Given the description of an element on the screen output the (x, y) to click on. 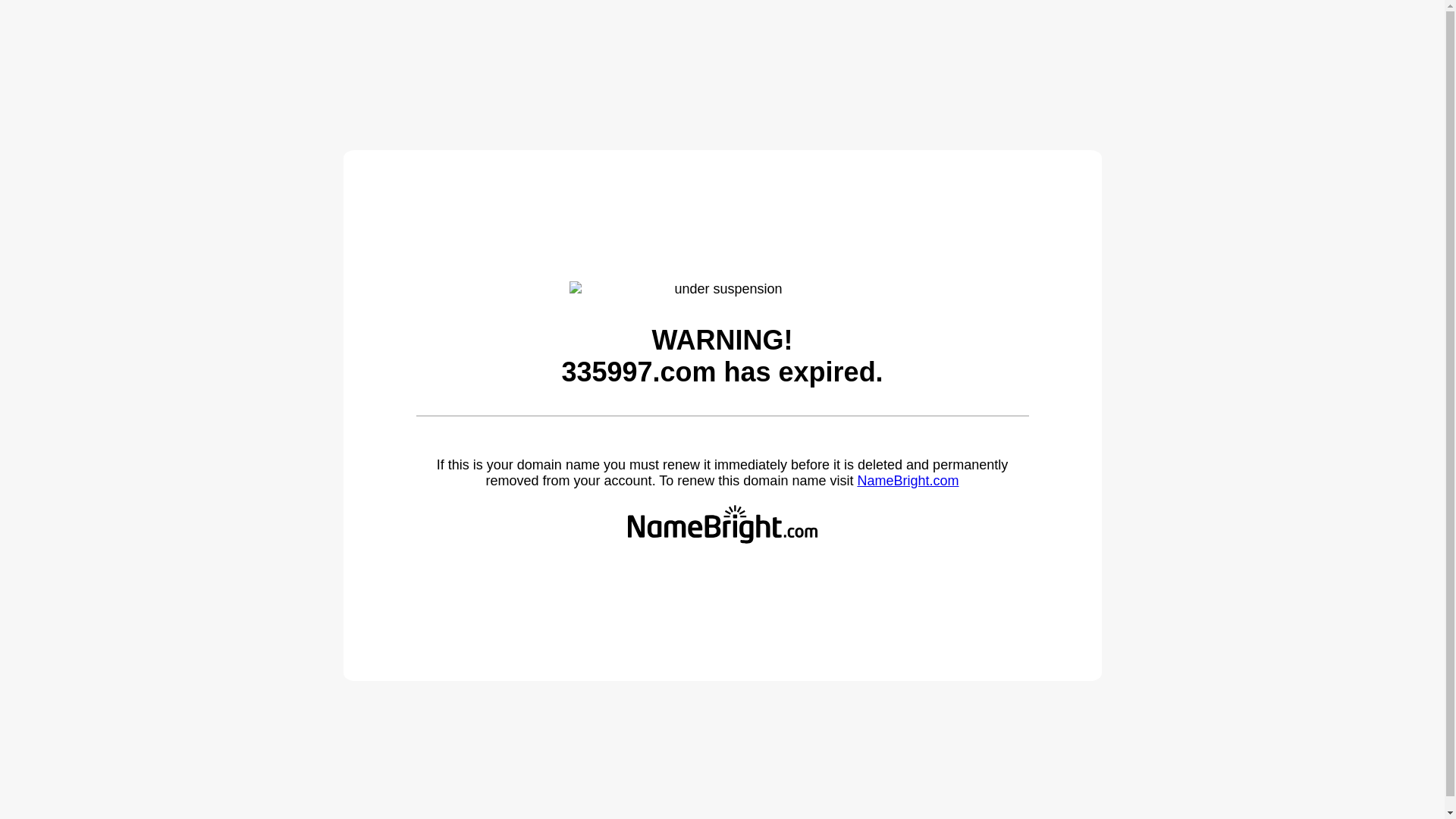
NameBright.com Element type: text (907, 480)
